Given the description of an element on the screen output the (x, y) to click on. 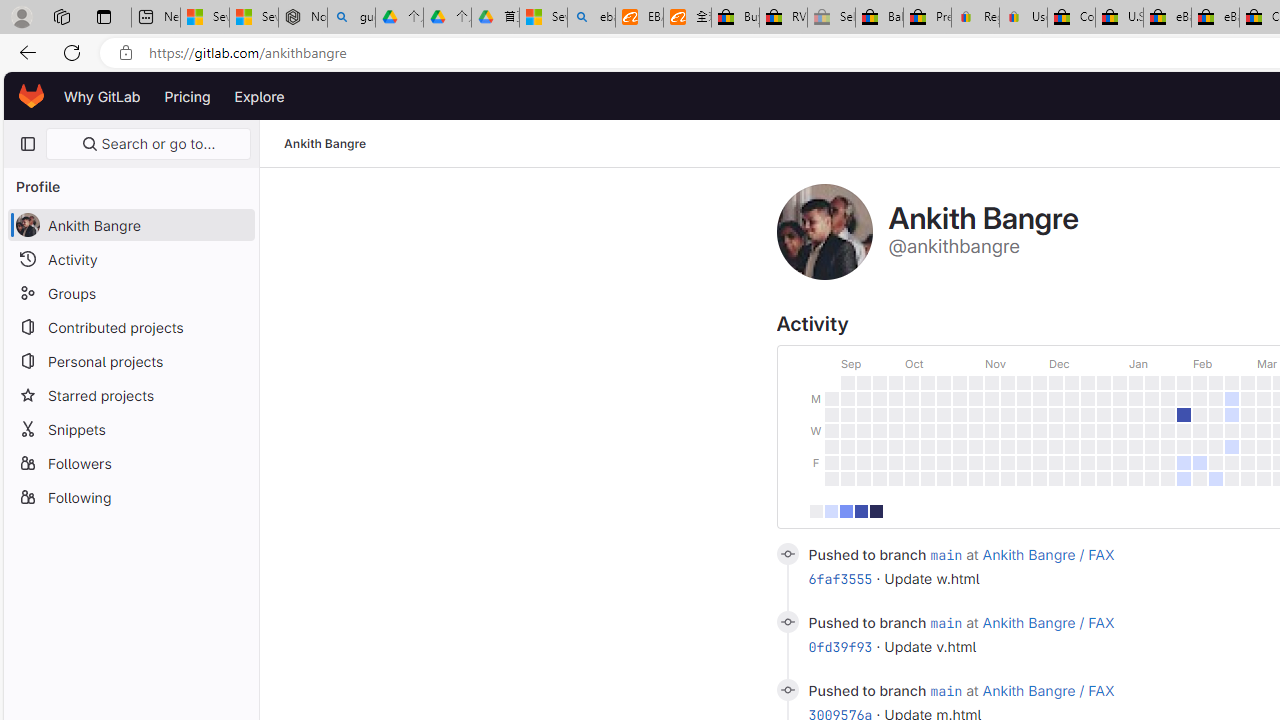
View site information (125, 53)
Personal projects (130, 360)
Buy Auto Parts & Accessories | eBay (735, 17)
Why GitLab (102, 95)
